Given the description of an element on the screen output the (x, y) to click on. 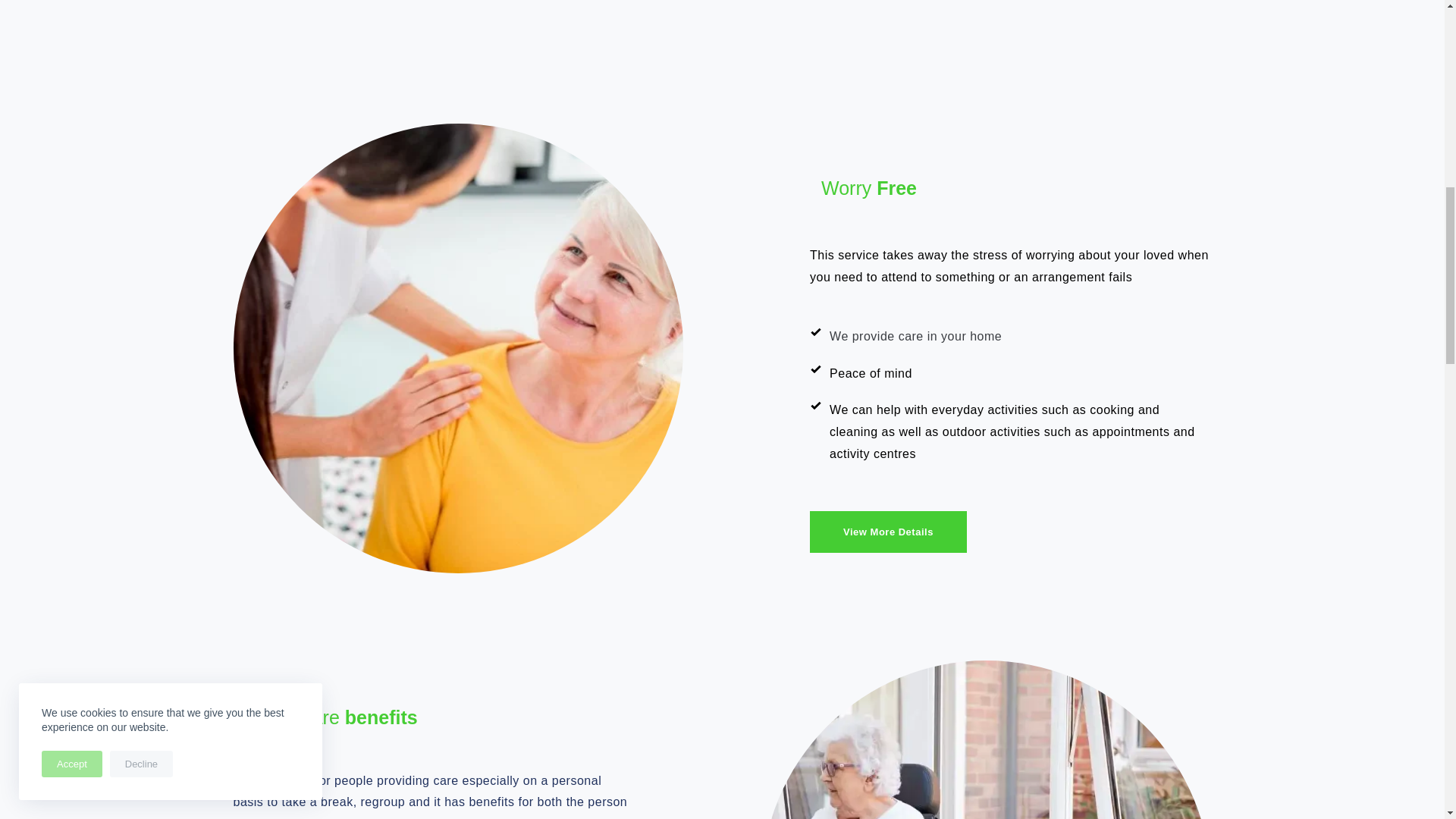
View More Details (887, 531)
